Given the description of an element on the screen output the (x, y) to click on. 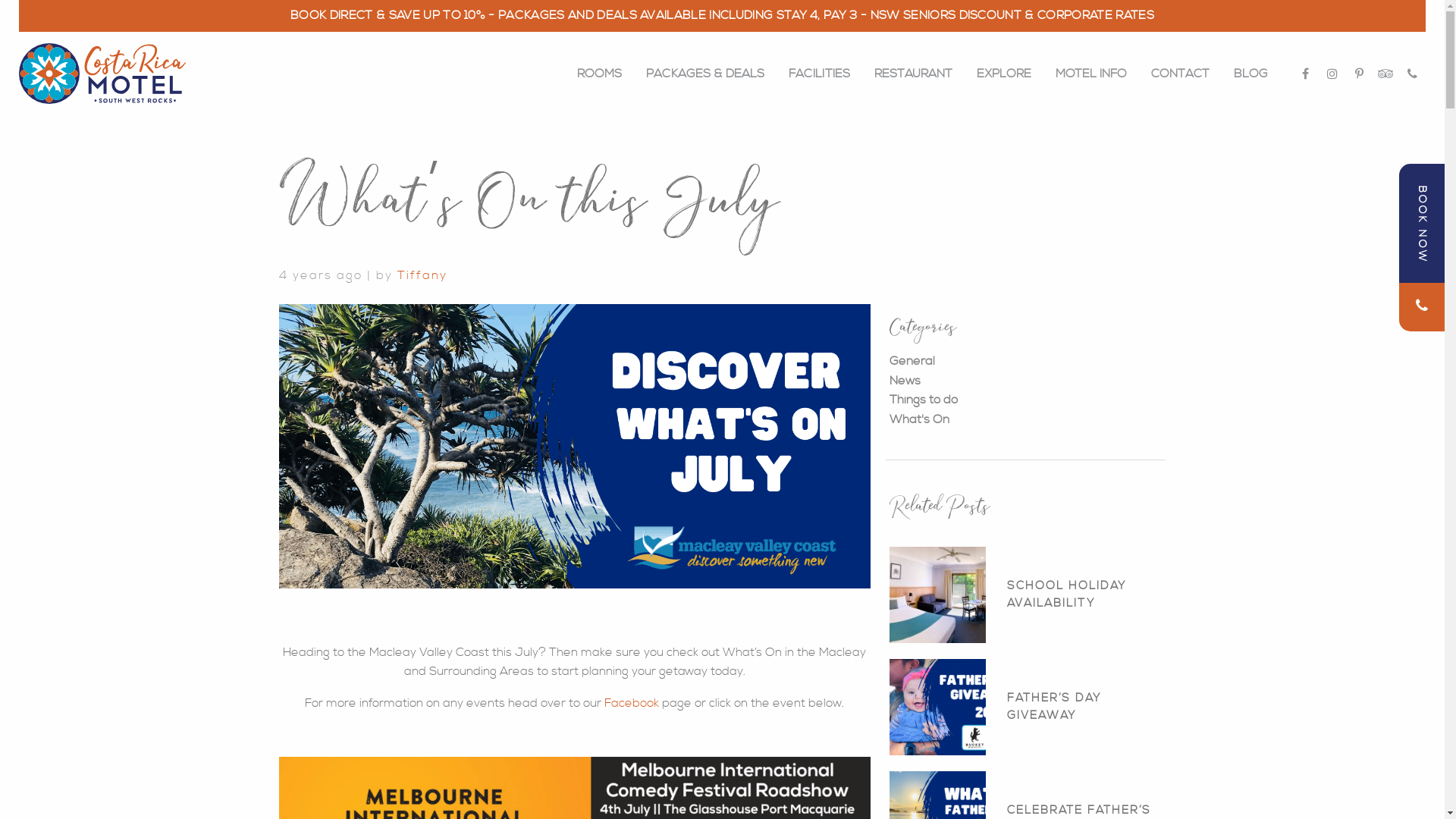
What's On Element type: text (918, 418)
Things to do Element type: text (922, 399)
Tiffany Element type: text (422, 274)
PACKAGES & DEALS Element type: text (704, 73)
ROOMS Element type: text (598, 73)
EXPLORE Element type: text (1003, 73)
Post Comment Element type: text (65, 17)
News Element type: text (903, 380)
RESTAURANT Element type: text (913, 73)
Costa Rica Motel Element type: hover (101, 73)
MOTEL INFO Element type: text (1091, 73)
General Element type: text (911, 360)
CONTACT Element type: text (1180, 73)
BOOK NOW Element type: text (1421, 222)
SCHOOL HOLIDAY AVAILABILITY Element type: text (1026, 594)
FACILITIES Element type: text (819, 73)
Facebook Element type: text (631, 702)
BLOG Element type: text (1250, 73)
